Given the description of an element on the screen output the (x, y) to click on. 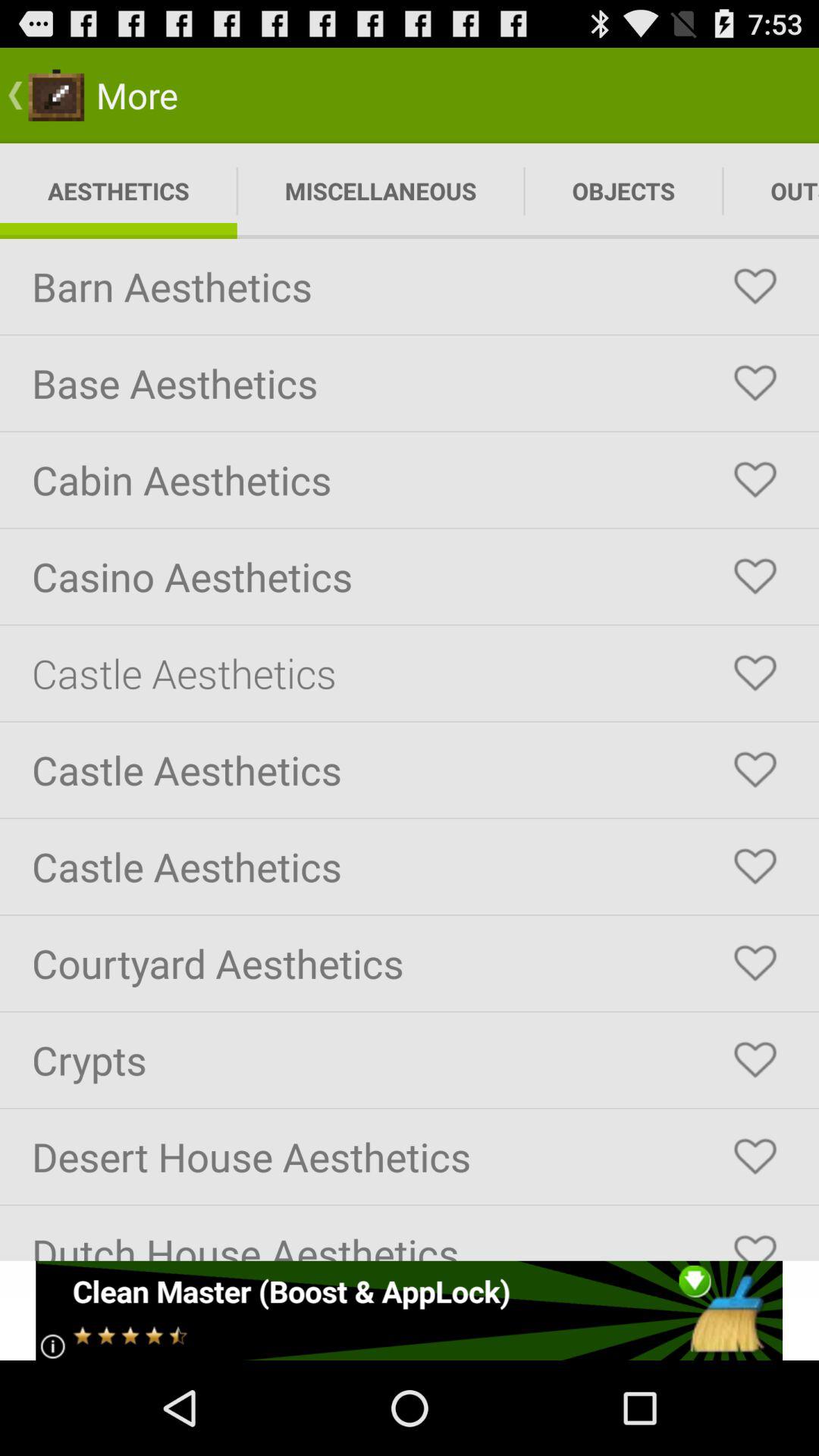
favorite (755, 769)
